Given the description of an element on the screen output the (x, y) to click on. 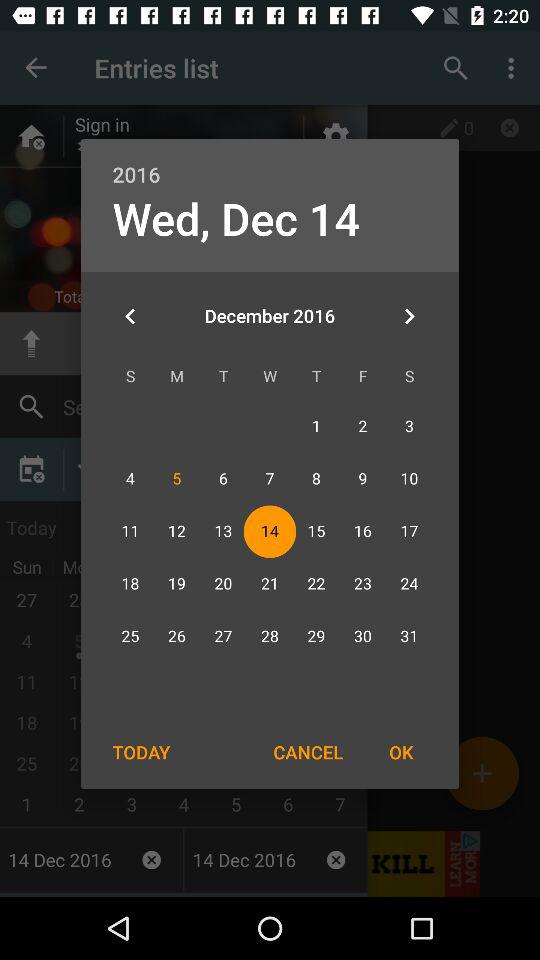
open today item (141, 751)
